Given the description of an element on the screen output the (x, y) to click on. 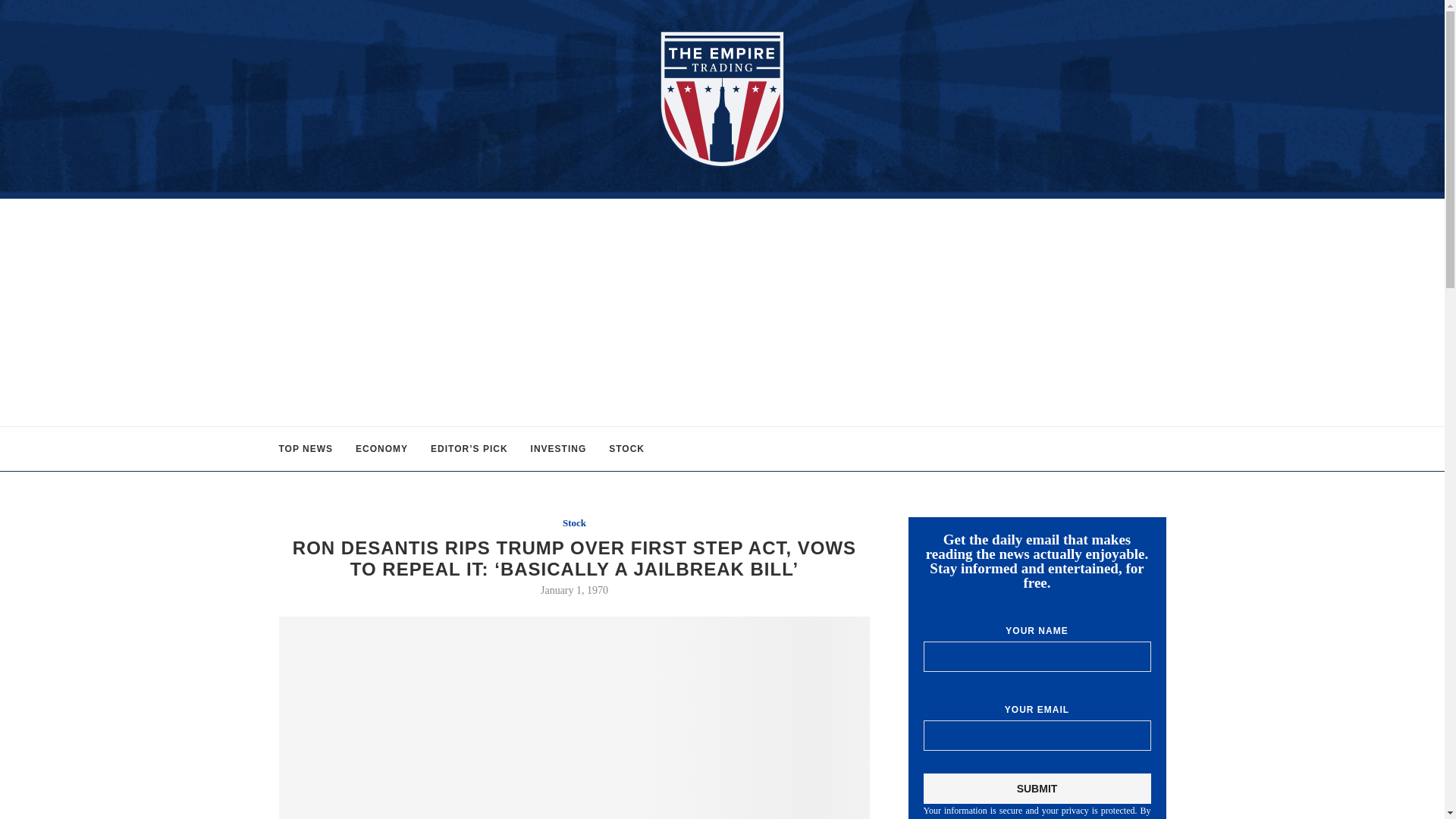
Stock (574, 522)
Submit (1037, 788)
ECONOMY (381, 448)
TOP NEWS (306, 448)
INVESTING (558, 448)
